Given the description of an element on the screen output the (x, y) to click on. 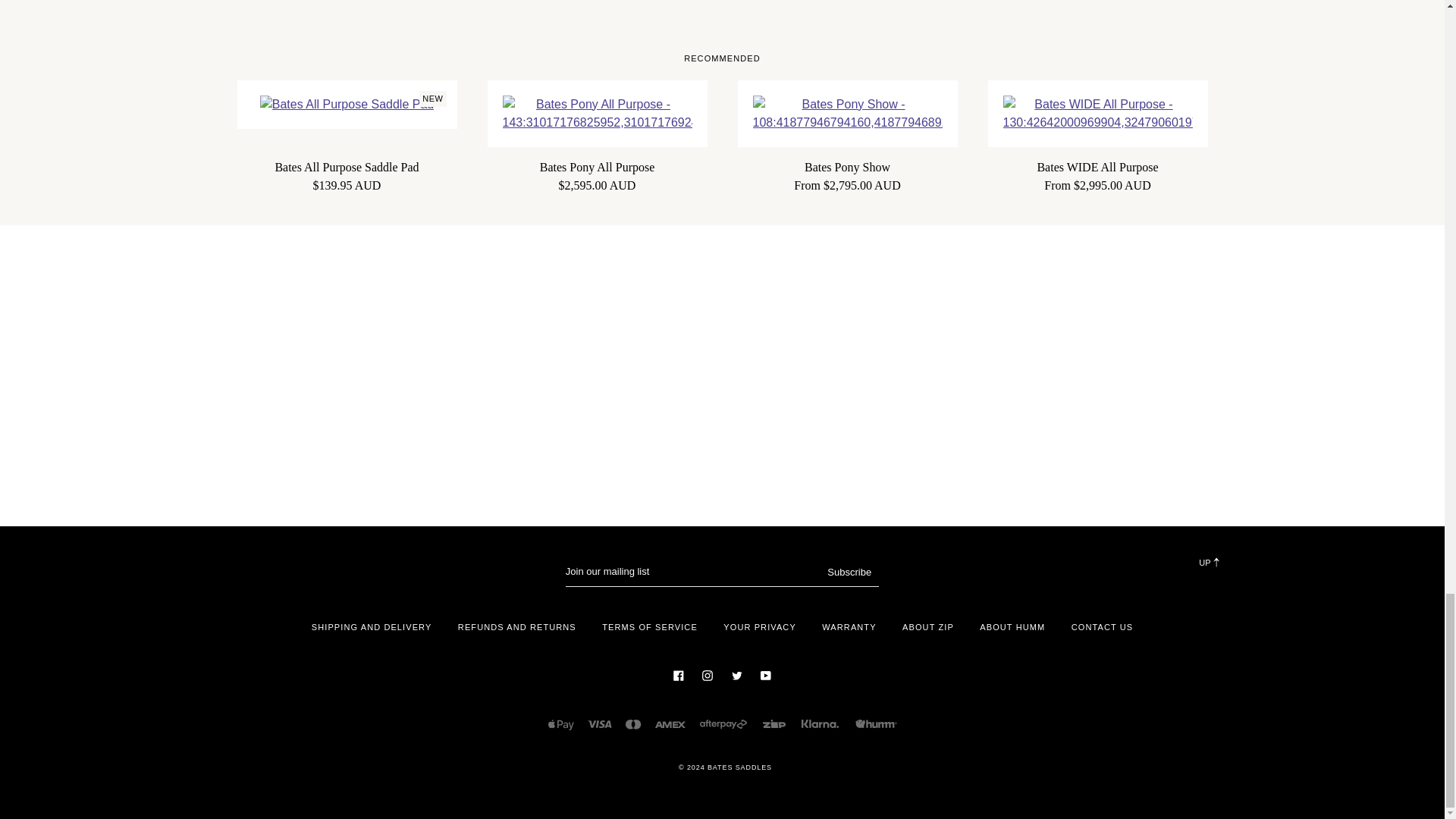
Bates Saddles on YouTube (765, 674)
Bates Saddles on Twitter (736, 674)
Bates Saddles on Instagram (707, 674)
Bates Saddles on Facebook (678, 674)
